Given the description of an element on the screen output the (x, y) to click on. 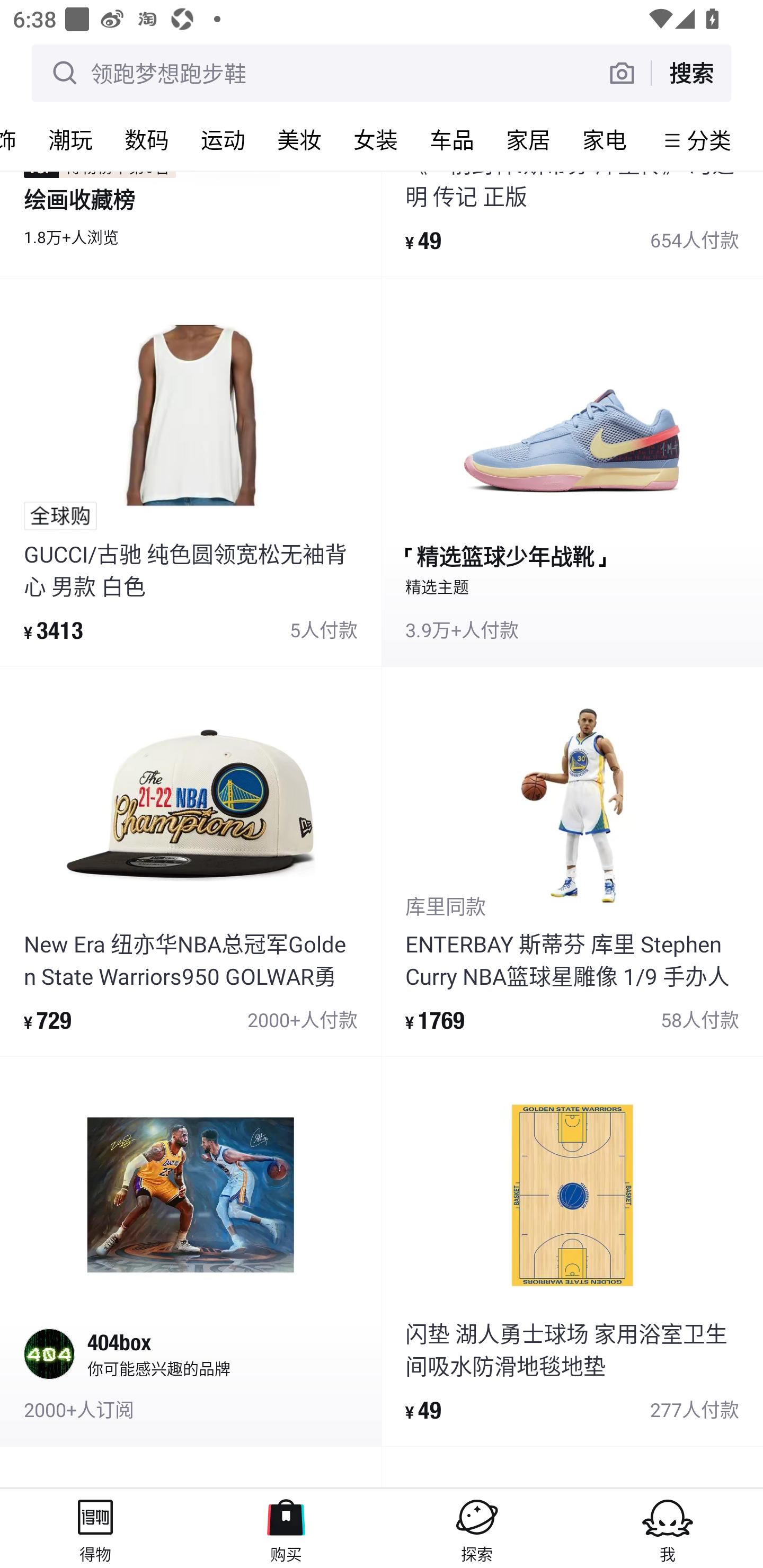
搜索 (690, 72)
潮玩 (70, 139)
数码 (146, 139)
运动 (222, 139)
美妆 (298, 139)
女装 (375, 139)
车品 (451, 139)
家居 (527, 139)
家电 (604, 139)
分类 (708, 139)
精选篮球少年战靴 精选主题 3.9万+人付款 (572, 471)
404box 你可能感兴趣的品牌 2000+人订阅 (190, 1250)
得物 (95, 1528)
购买 (285, 1528)
探索 (476, 1528)
我 (667, 1528)
